Given the description of an element on the screen output the (x, y) to click on. 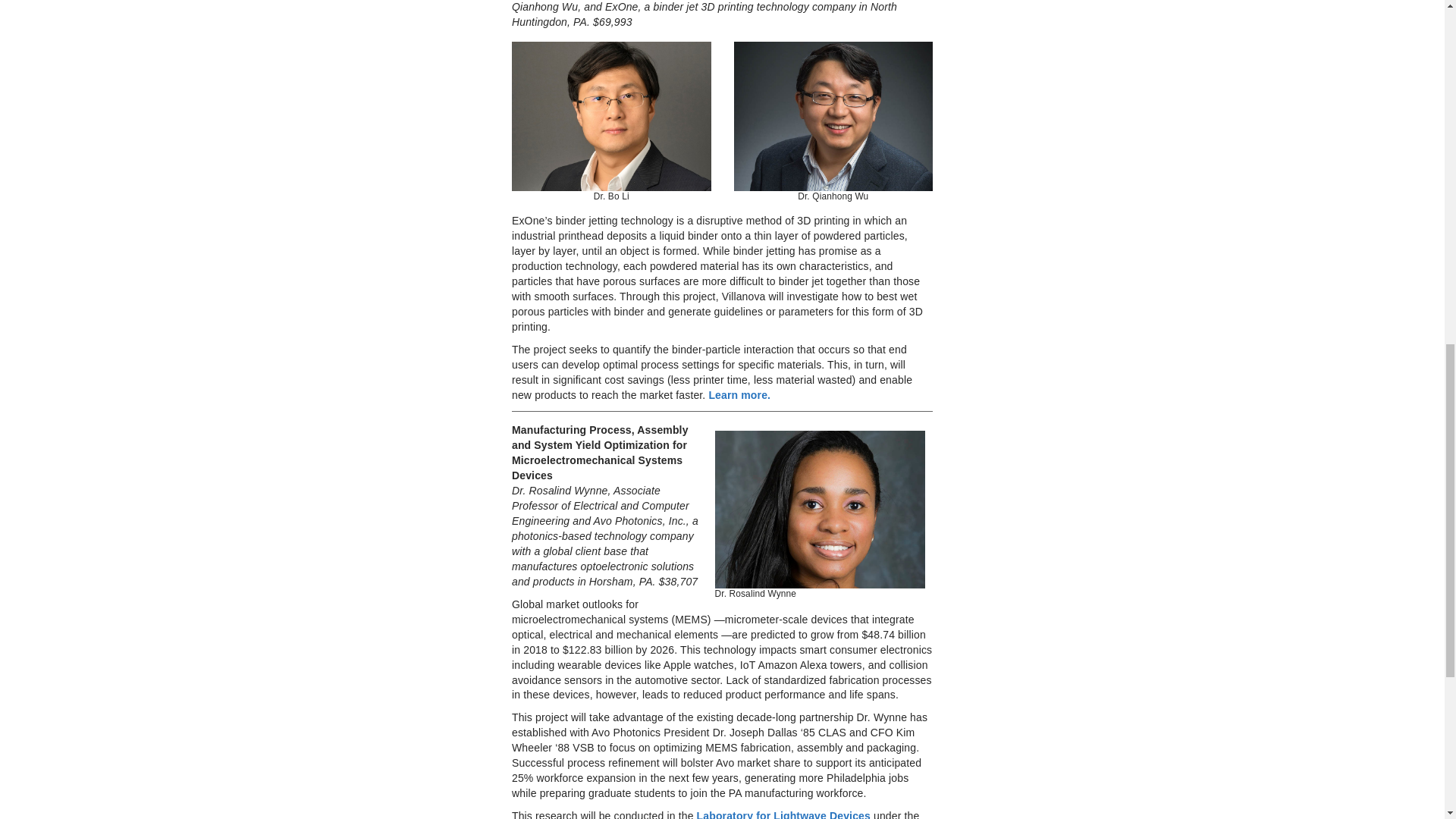
Dr. Rosalind Wynne (819, 509)
Dr. Qianhong Wu (833, 115)
Dr. Bo Li  (611, 115)
